Given the description of an element on the screen output the (x, y) to click on. 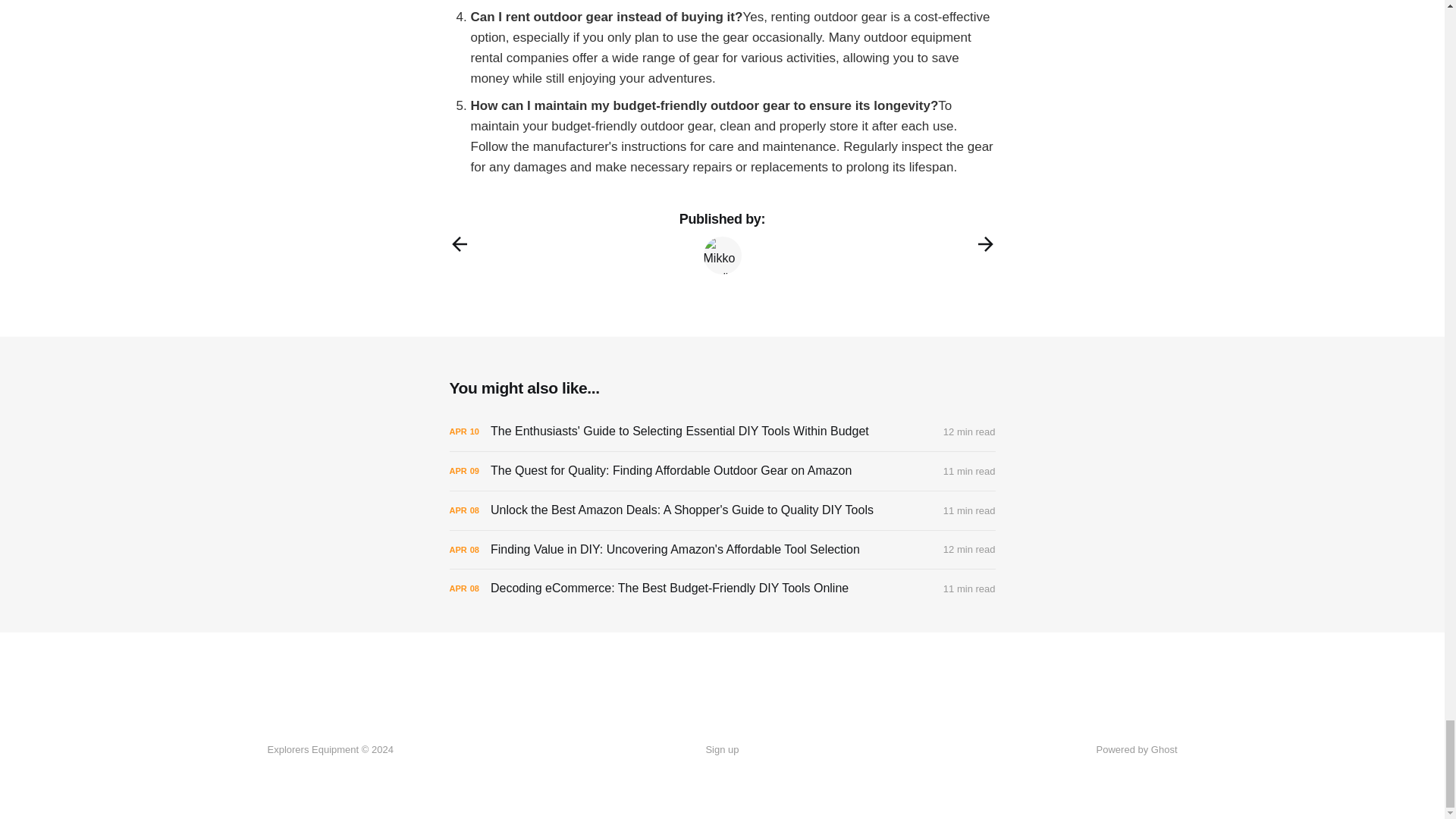
Sign up (721, 750)
Powered by Ghost (1136, 749)
